Given the description of an element on the screen output the (x, y) to click on. 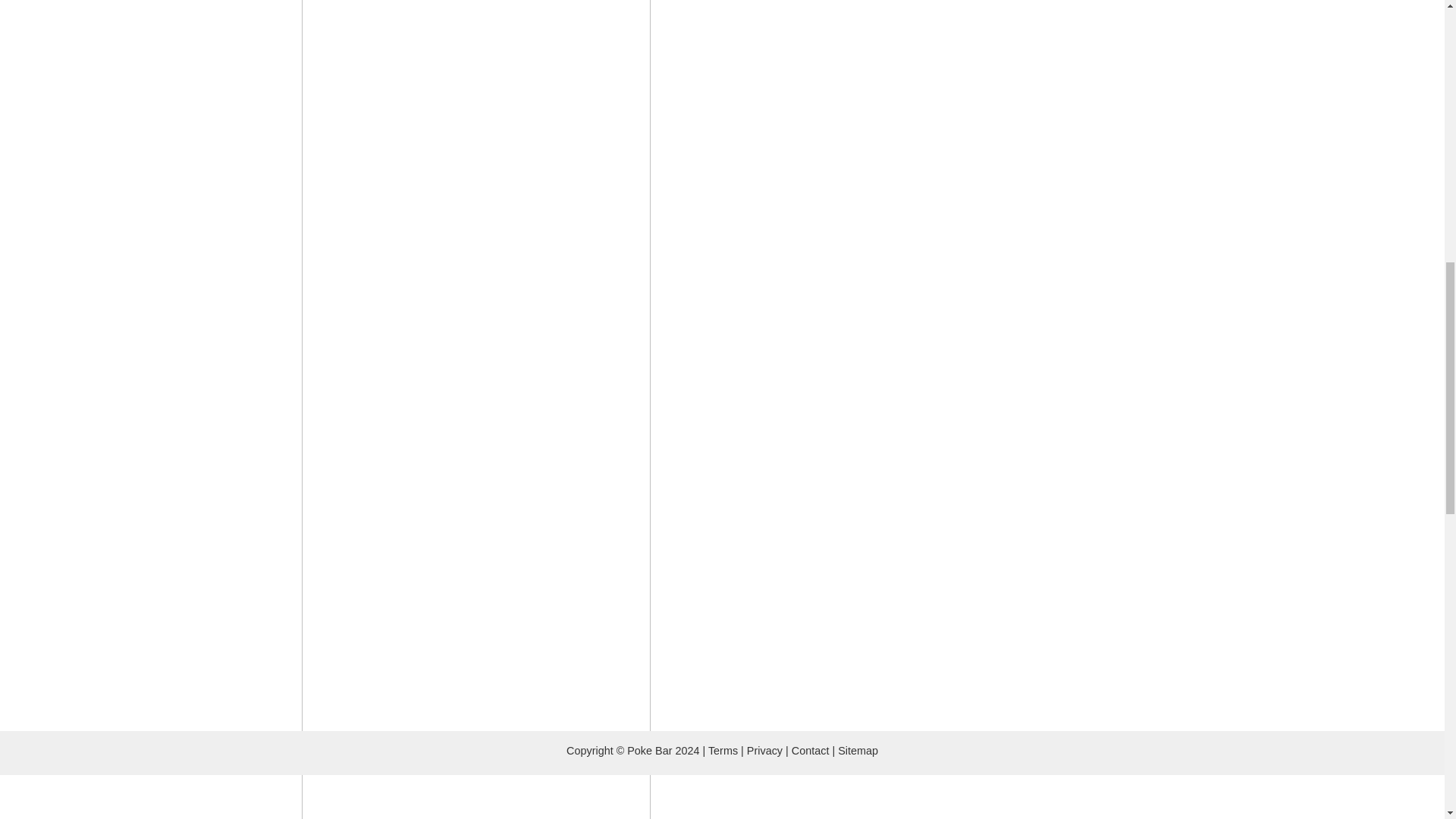
Contact (810, 750)
Privacy (764, 750)
Terms (722, 750)
Sitemap (857, 750)
